Given the description of an element on the screen output the (x, y) to click on. 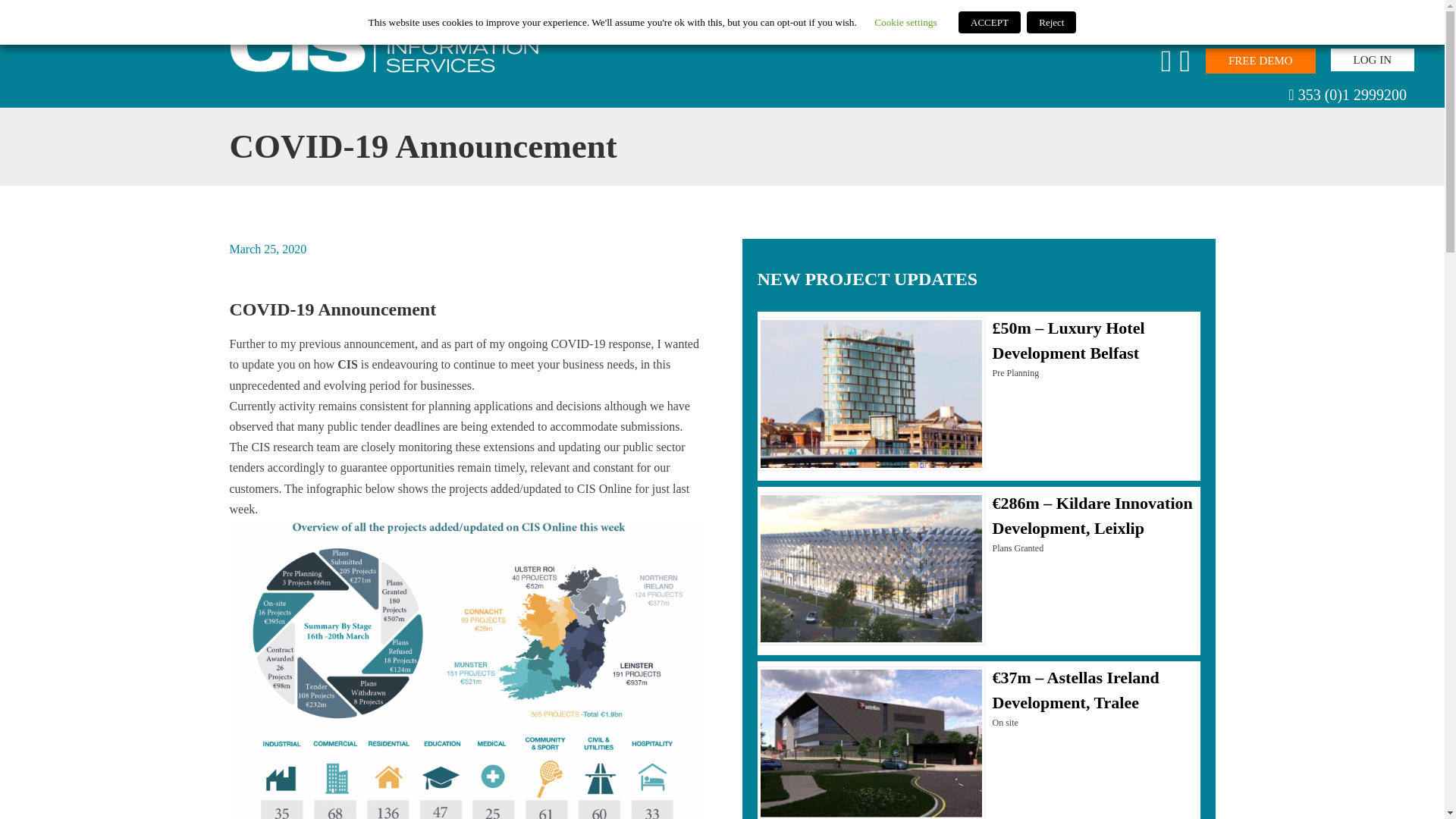
ABOUT US (1207, 28)
SUPPORT (1288, 28)
LOG IN (1371, 60)
HOME (989, 28)
PRODUCTS (1063, 28)
CONTACT US (1376, 28)
FREE DEMO (1260, 61)
BLOG (1137, 28)
